Given the description of an element on the screen output the (x, y) to click on. 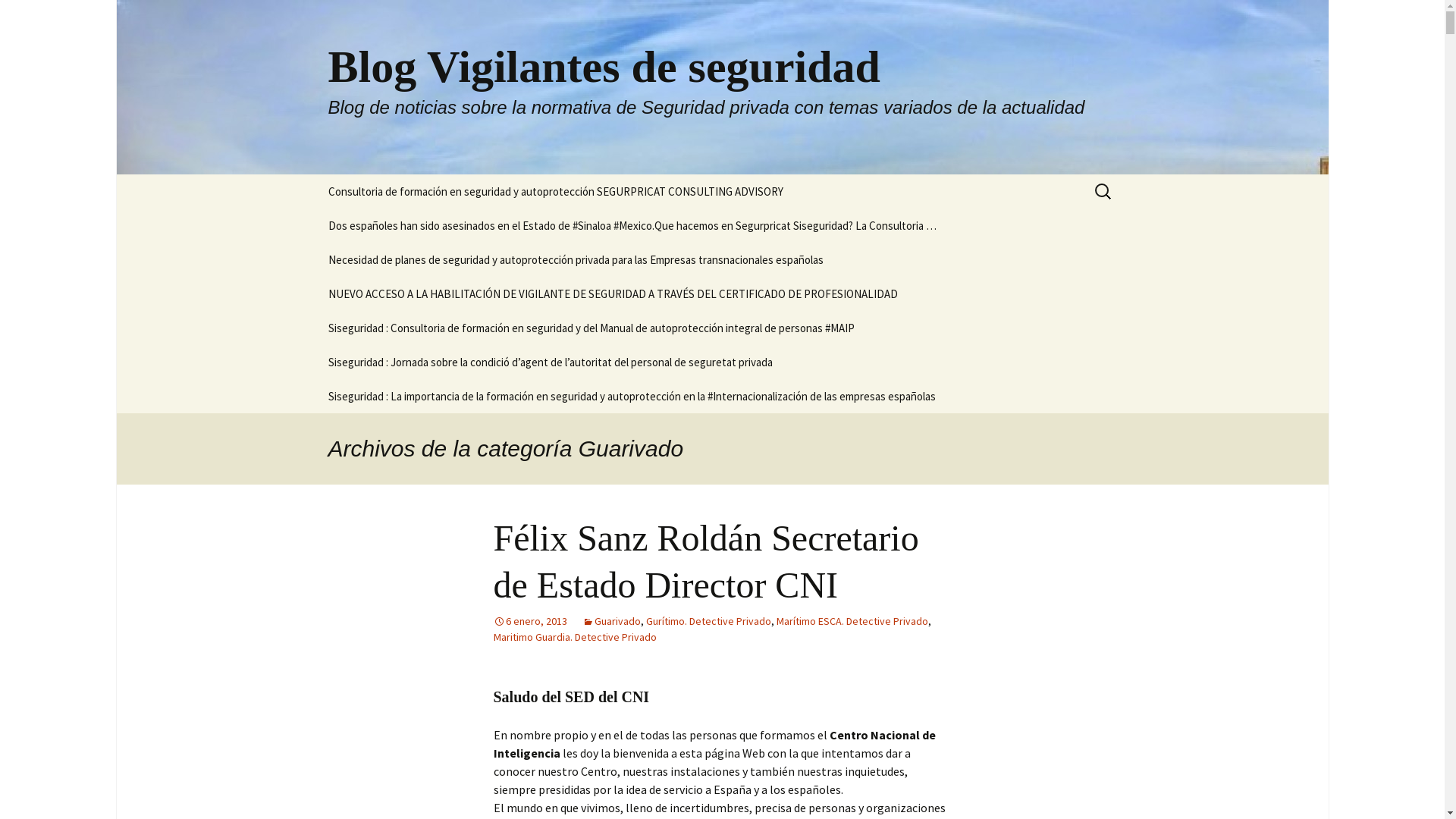
Ir al contenido Element type: text (312, 174)
Buscar Element type: text (18, 16)
Buscar Element type: text (33, 15)
Maritimo Guardia. Detective Privado Element type: text (573, 636)
Buscar: Element type: hover (1103, 191)
6 enero, 2013 Element type: text (529, 620)
Guarivado Element type: text (611, 620)
